Given the description of an element on the screen output the (x, y) to click on. 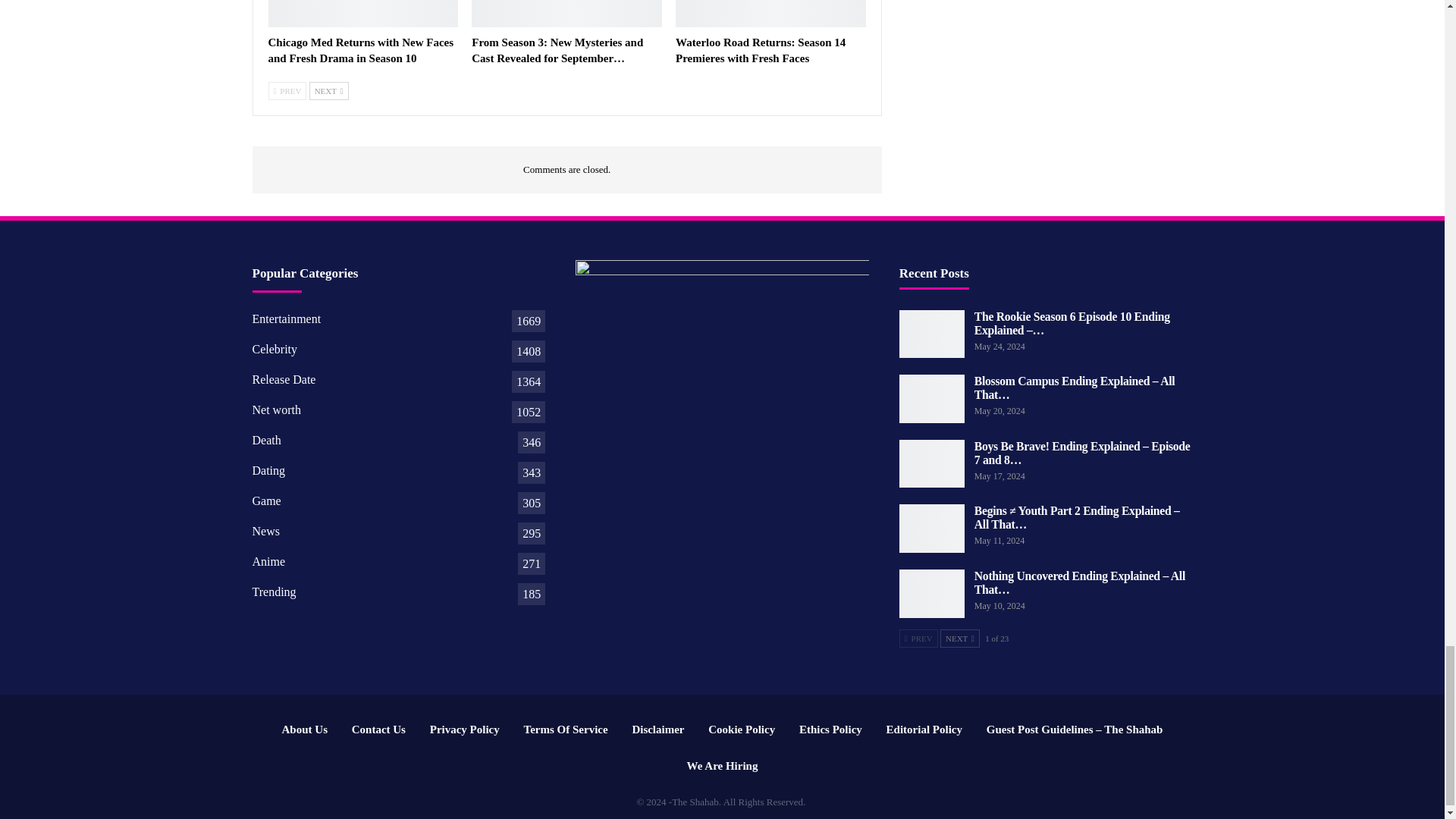
Next (328, 90)
Waterloo Road Returns: Season 14 Premieres with Fresh Faces (770, 13)
Waterloo Road Returns: Season 14 Premieres with Fresh Faces (760, 50)
Previous (287, 90)
